Given the description of an element on the screen output the (x, y) to click on. 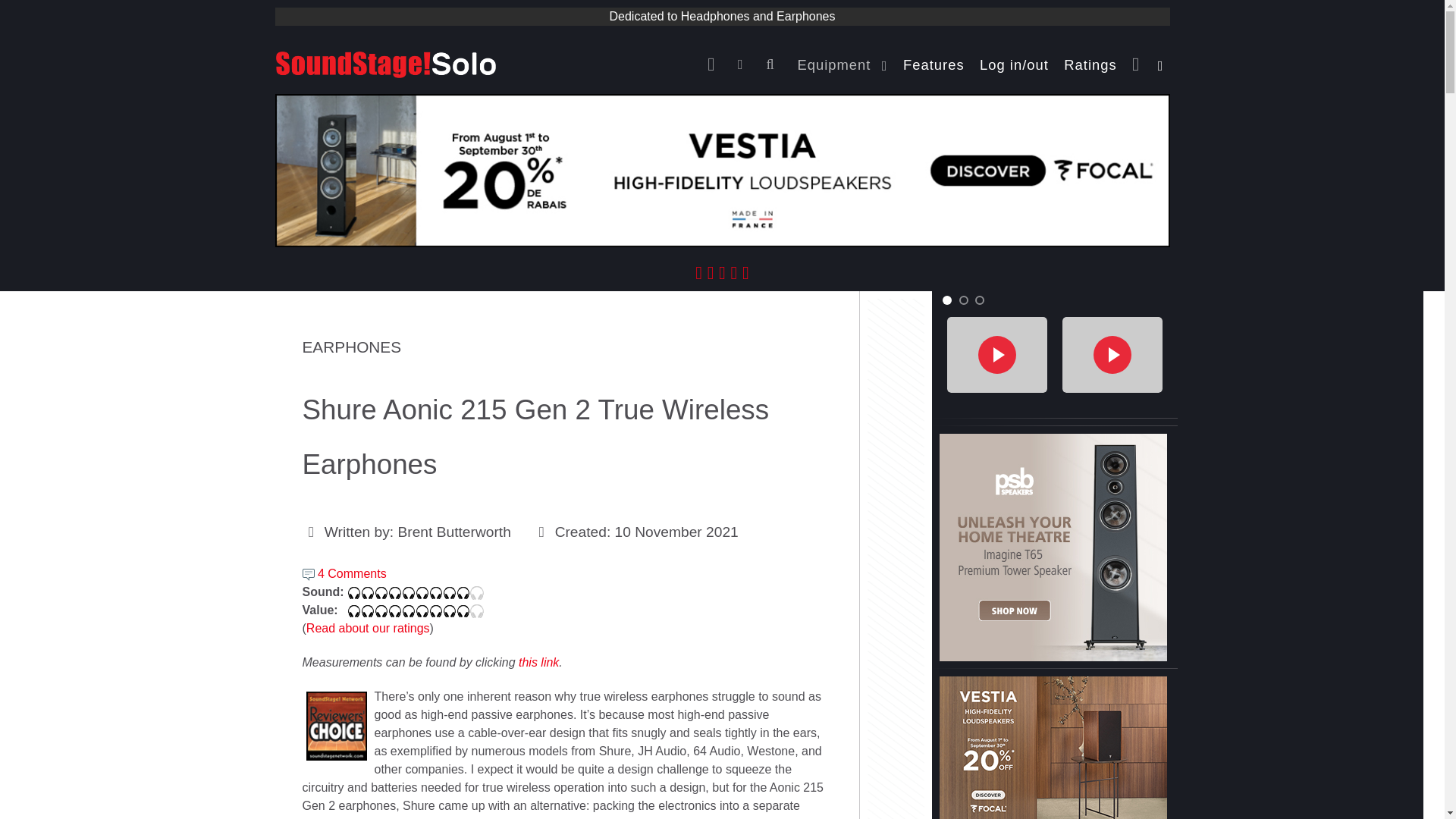
Features (933, 64)
Home (714, 64)
Equipment (842, 64)
Solo. (385, 62)
Ratings (1090, 64)
